Given the description of an element on the screen output the (x, y) to click on. 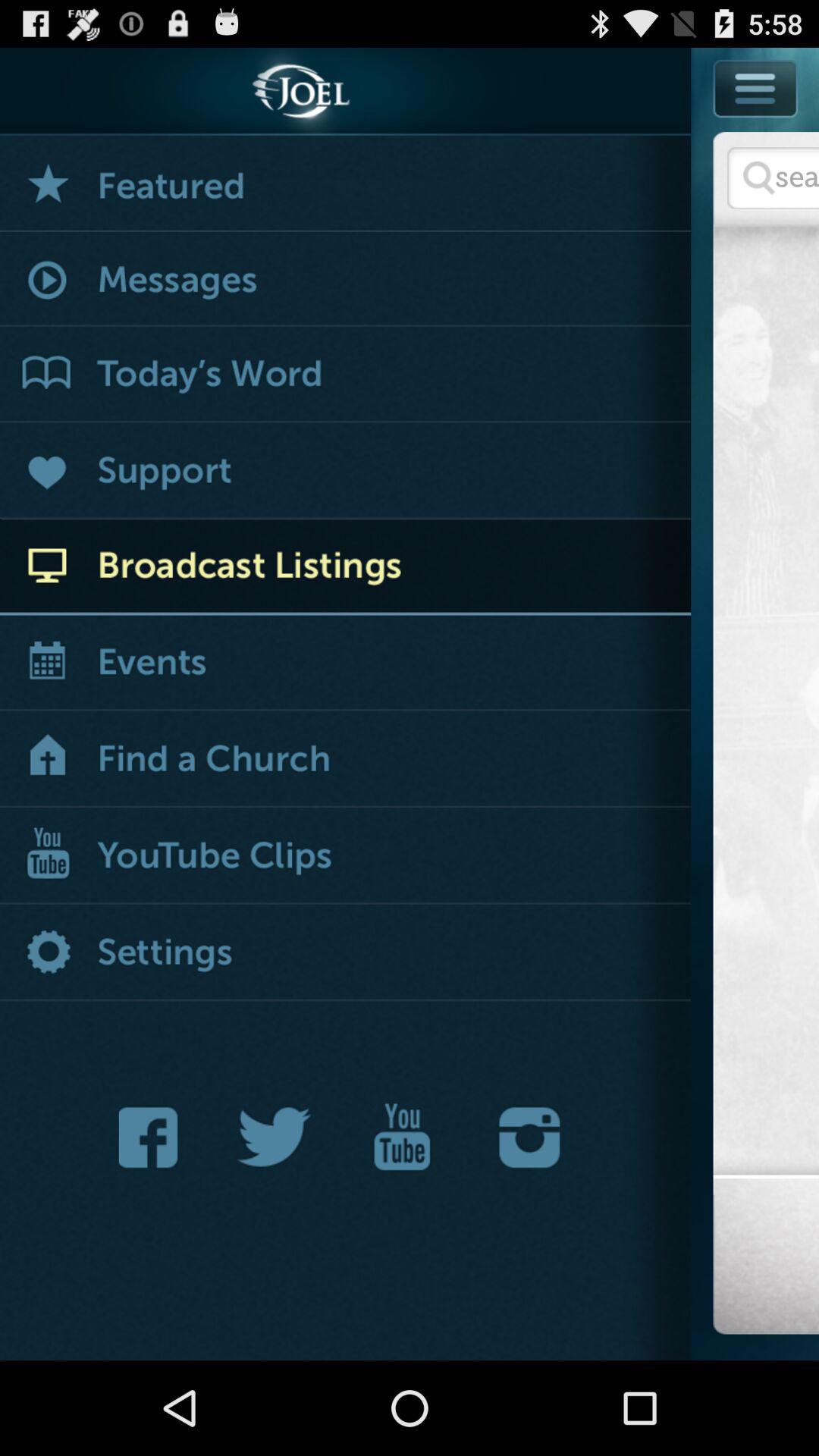
shows today 's word of the day (345, 375)
